Given the description of an element on the screen output the (x, y) to click on. 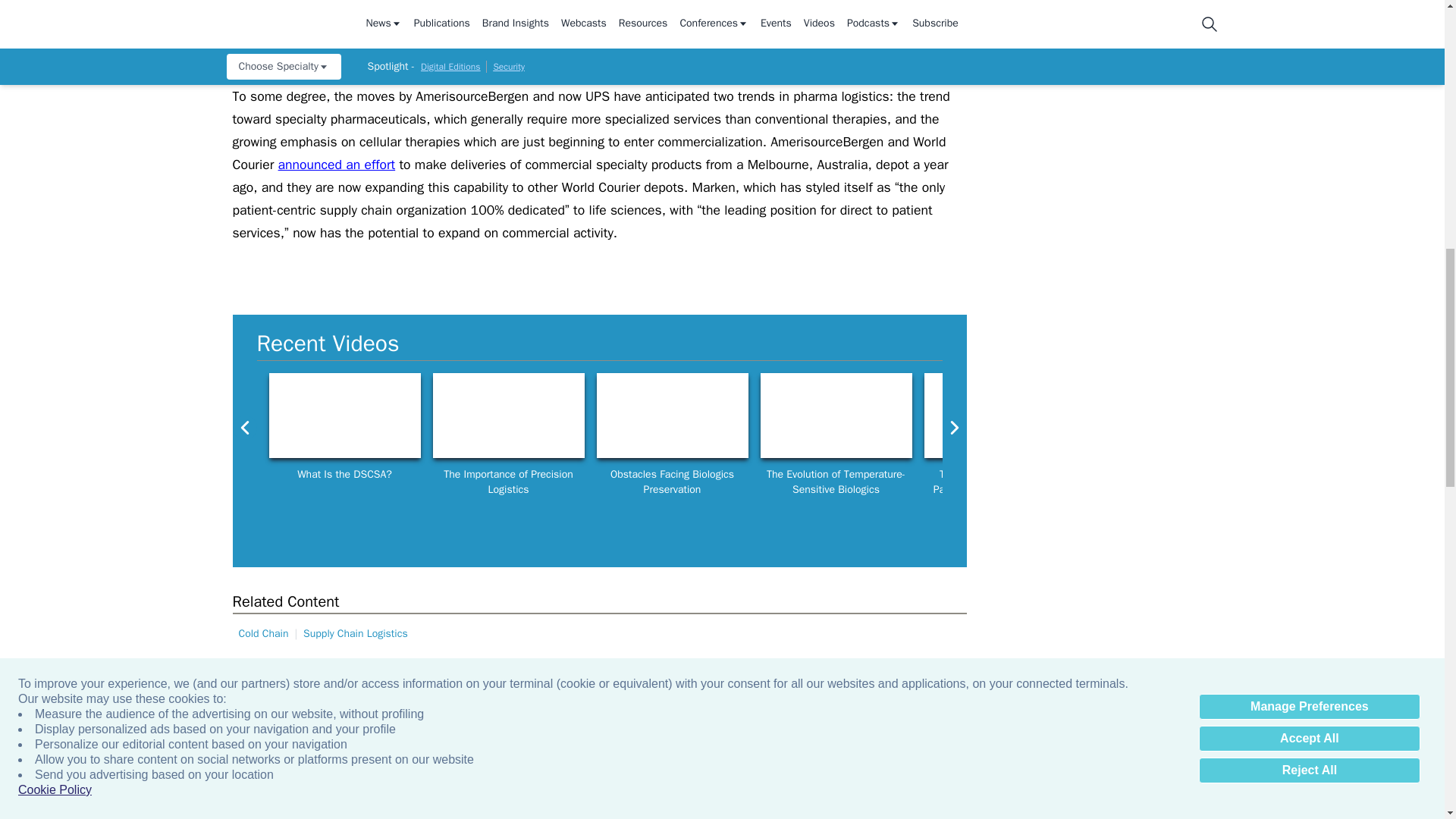
The Relationship Between Patients and Drug Shortages  (999, 415)
What Is the DSCSA? (343, 415)
The Current Landscape of Drug Shortages (1163, 415)
The Importance of Precision Logistics (507, 415)
The Evolution of Temperature-Sensitive Biologics (835, 415)
Obstacles Facing Biologics Preservation (671, 415)
